Given the description of an element on the screen output the (x, y) to click on. 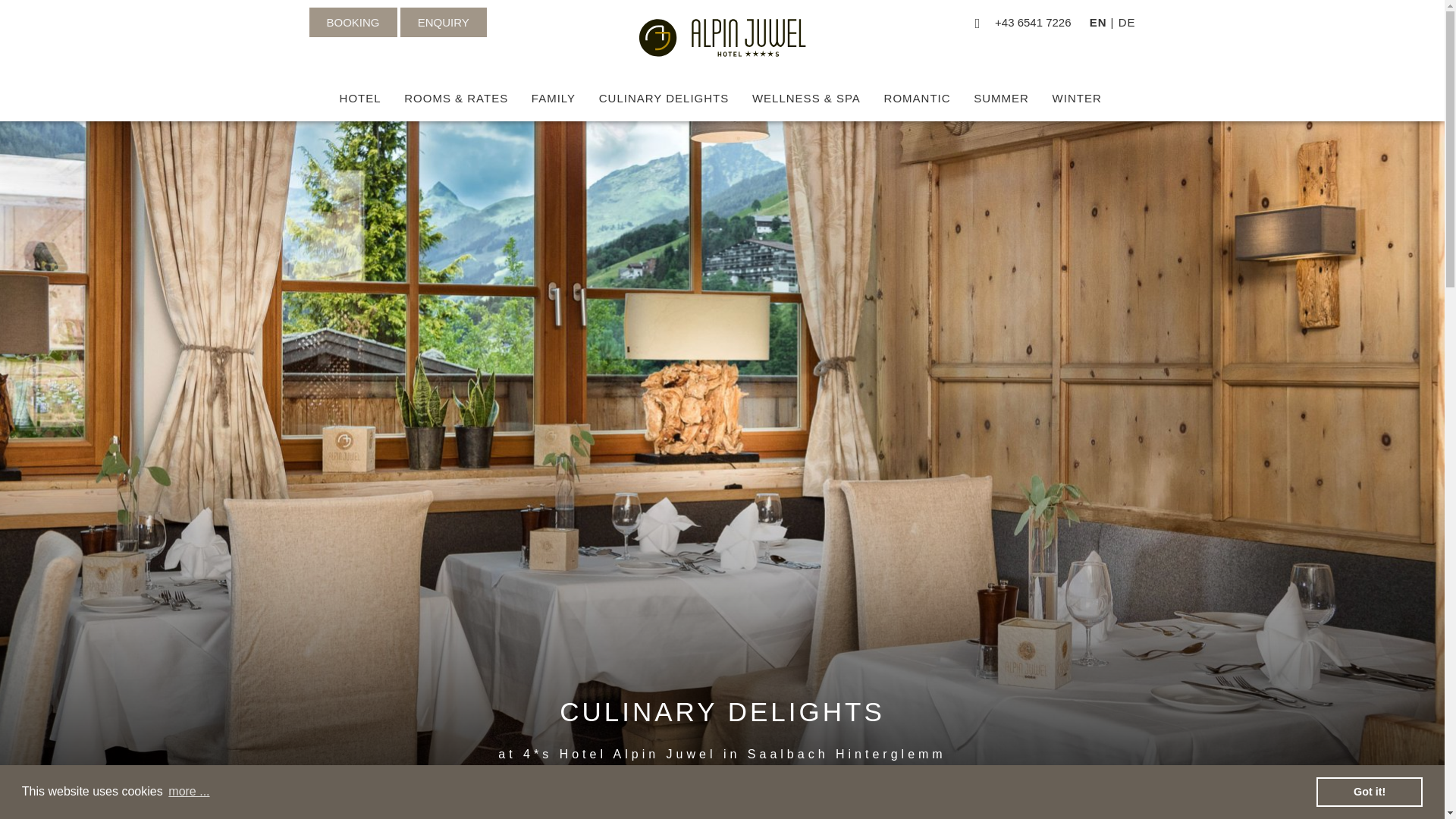
Got it! (1369, 791)
CULINARY DELIGHTS (663, 98)
ROMANTIC (917, 98)
FAMILY (553, 98)
HOTEL (360, 98)
more ... (188, 791)
